Given the description of an element on the screen output the (x, y) to click on. 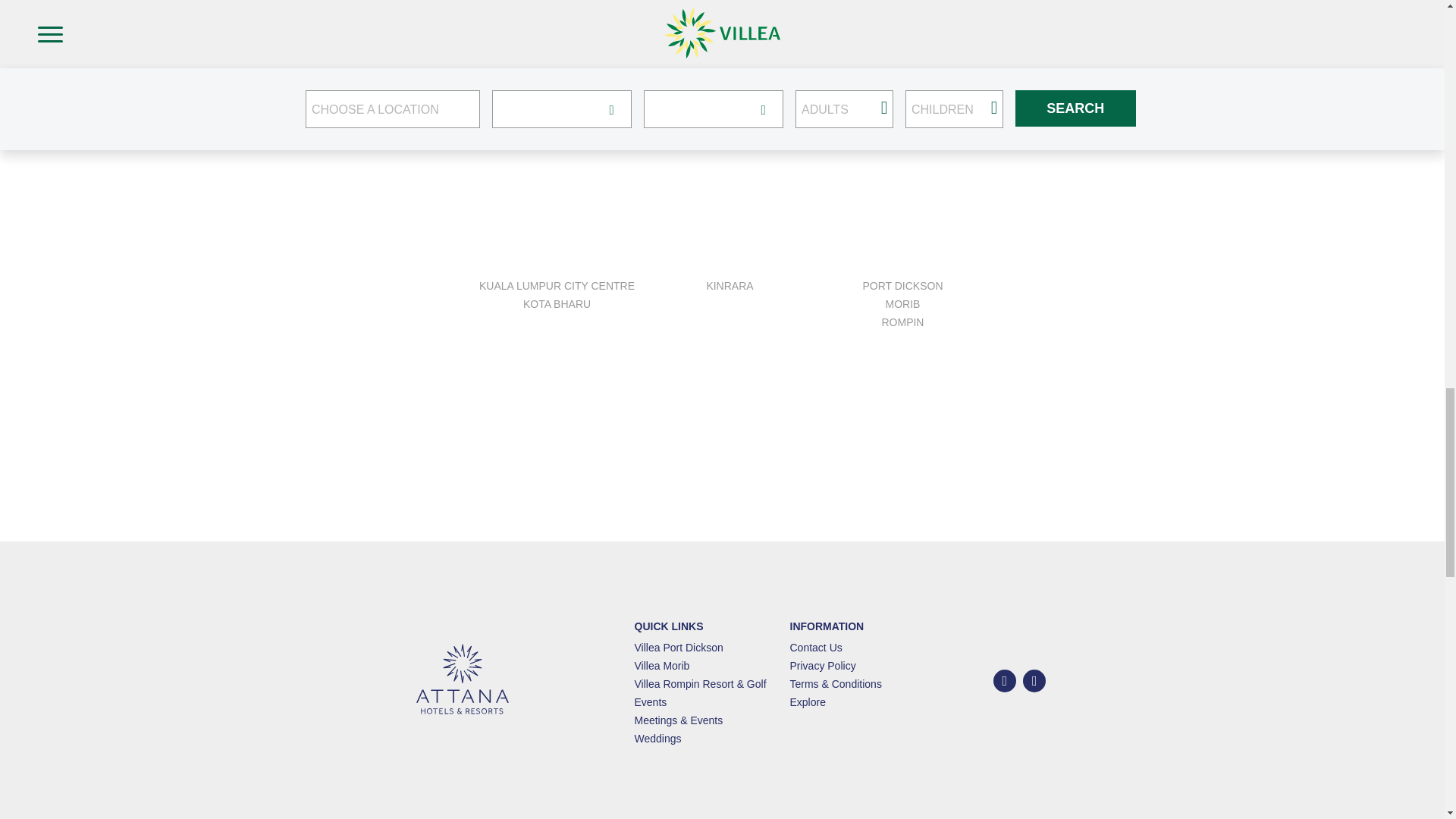
Events (649, 702)
Weddings (657, 738)
KUALA LUMPUR CITY CENTRE (556, 285)
Villea Morib (534, 33)
Book (1181, 60)
Villea Port Dickson (677, 647)
comfortable accommodations (340, 60)
PORT DICKSON (901, 285)
KINRARA (729, 285)
Contact Us (816, 647)
